Given the description of an element on the screen output the (x, y) to click on. 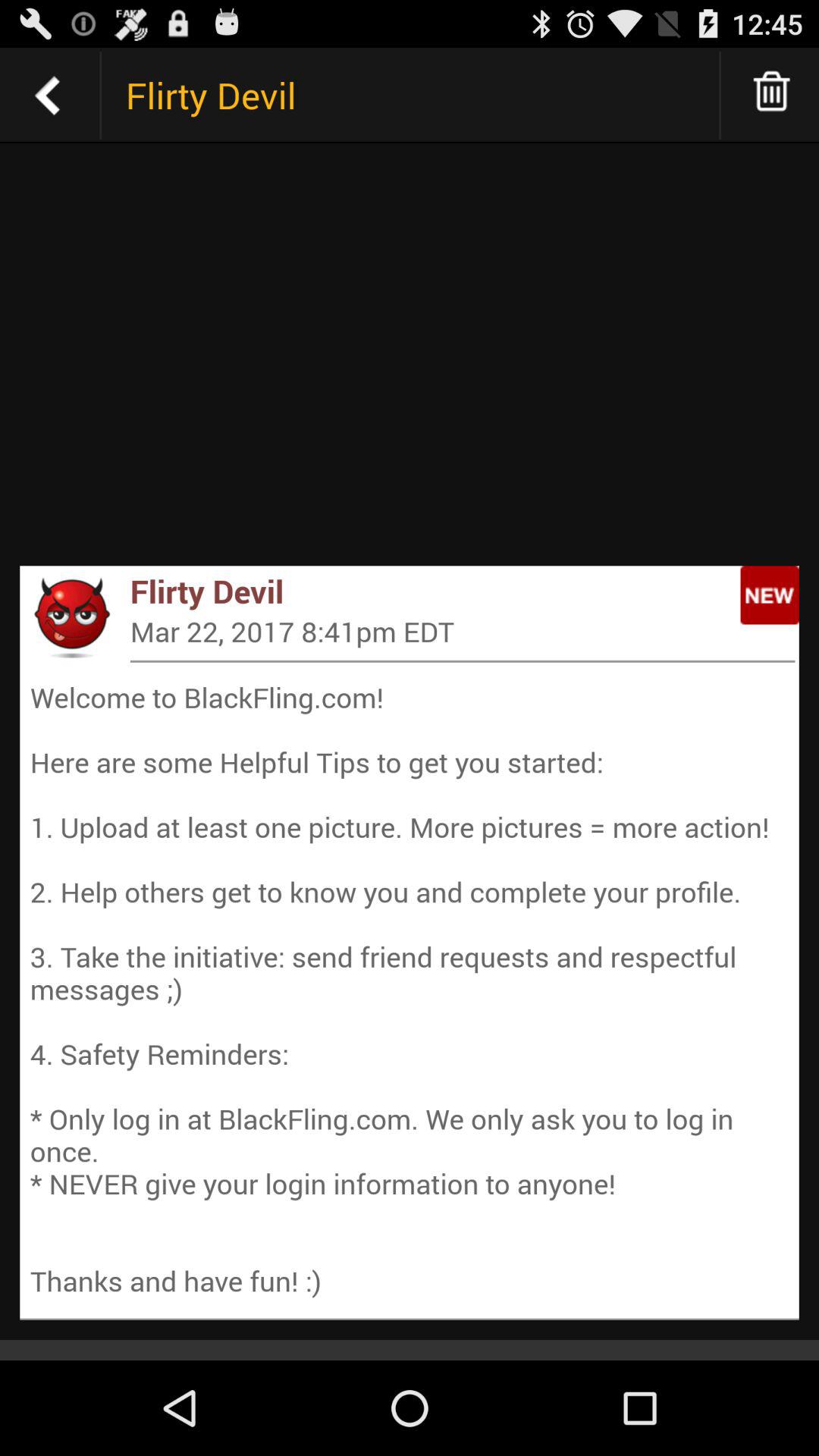
delete (772, 95)
